Given the description of an element on the screen output the (x, y) to click on. 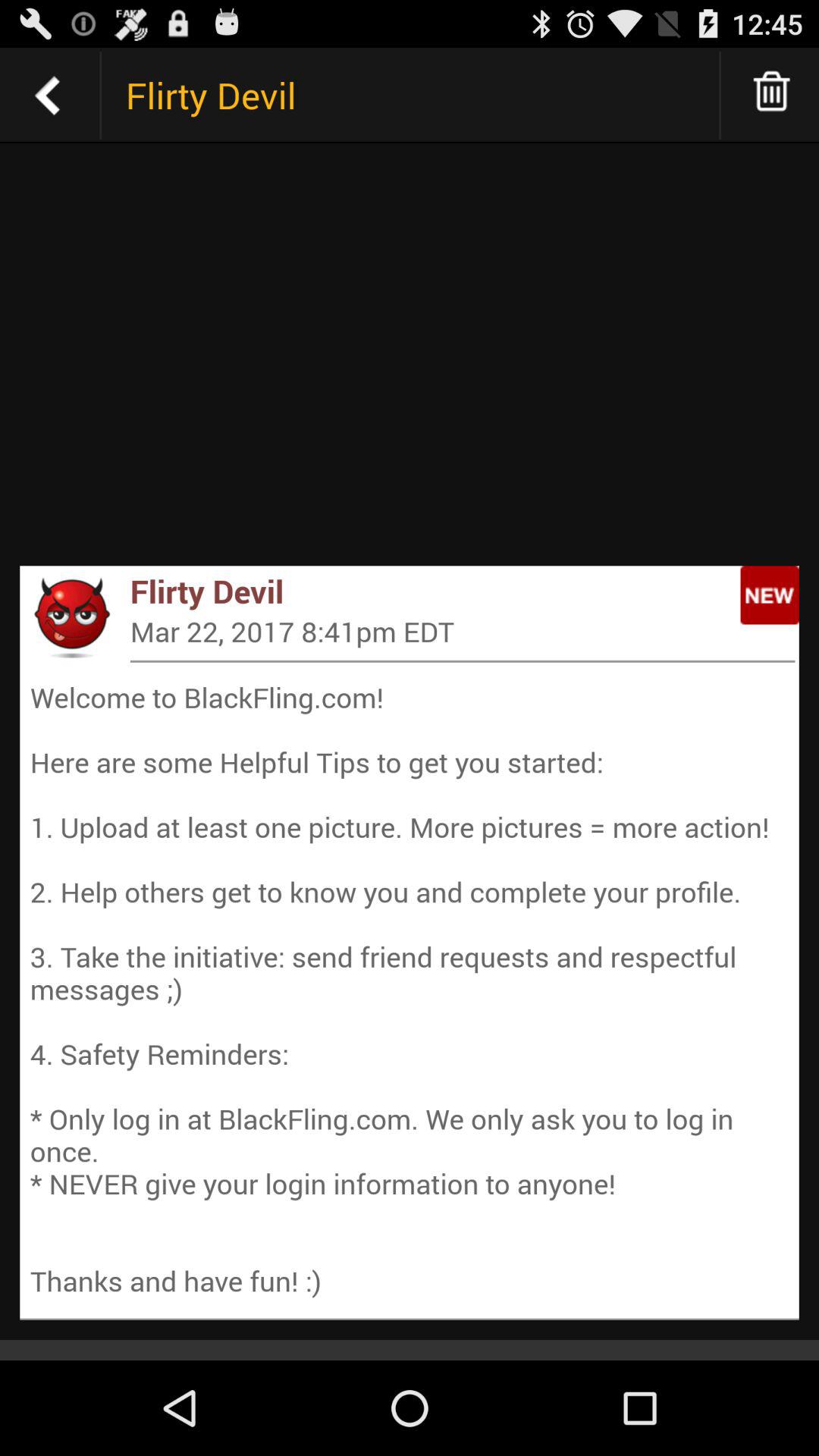
delete (772, 95)
